Given the description of an element on the screen output the (x, y) to click on. 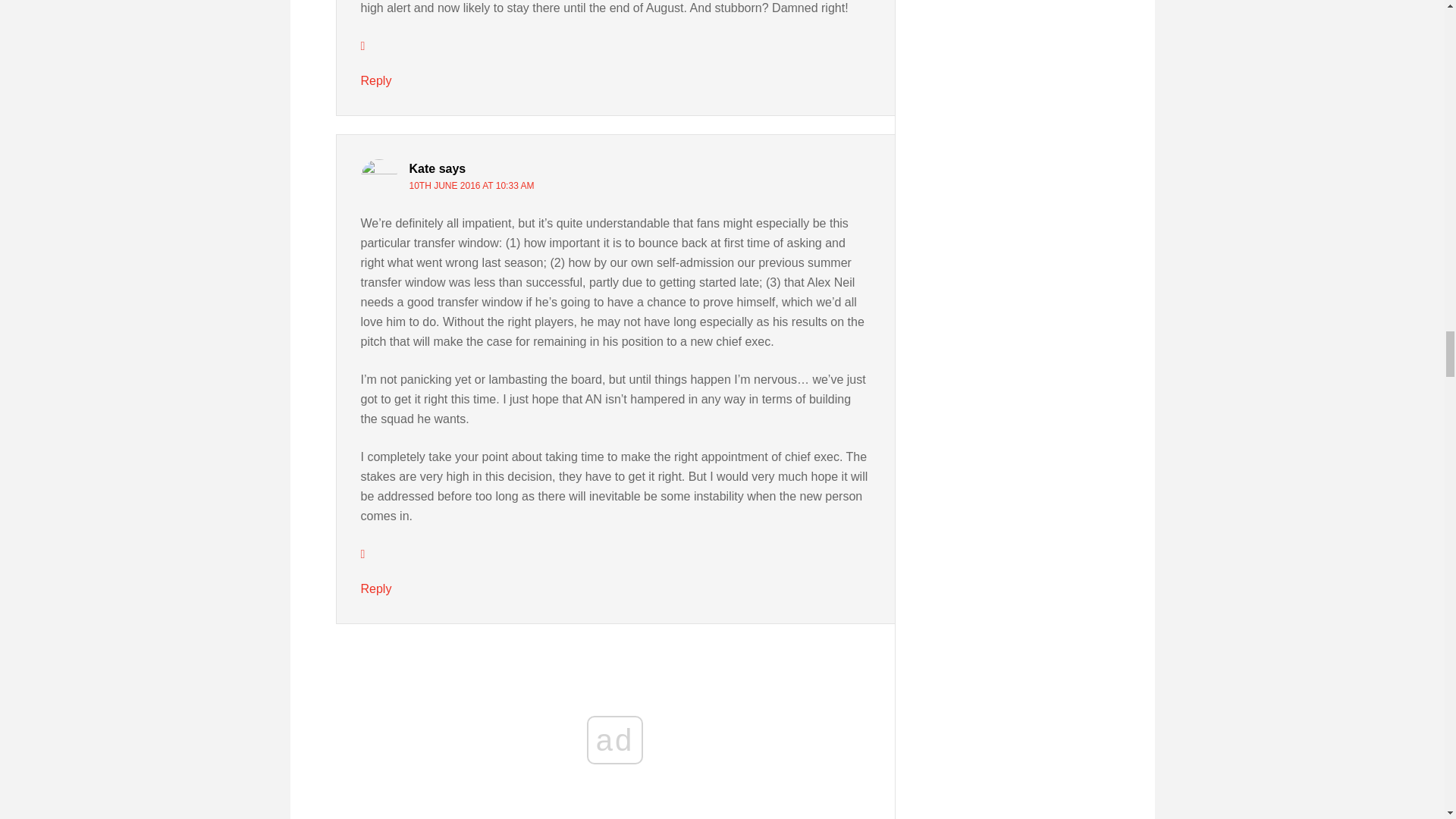
Reply (376, 80)
10TH JUNE 2016 AT 10:33 AM (471, 185)
Reply (376, 588)
